Given the description of an element on the screen output the (x, y) to click on. 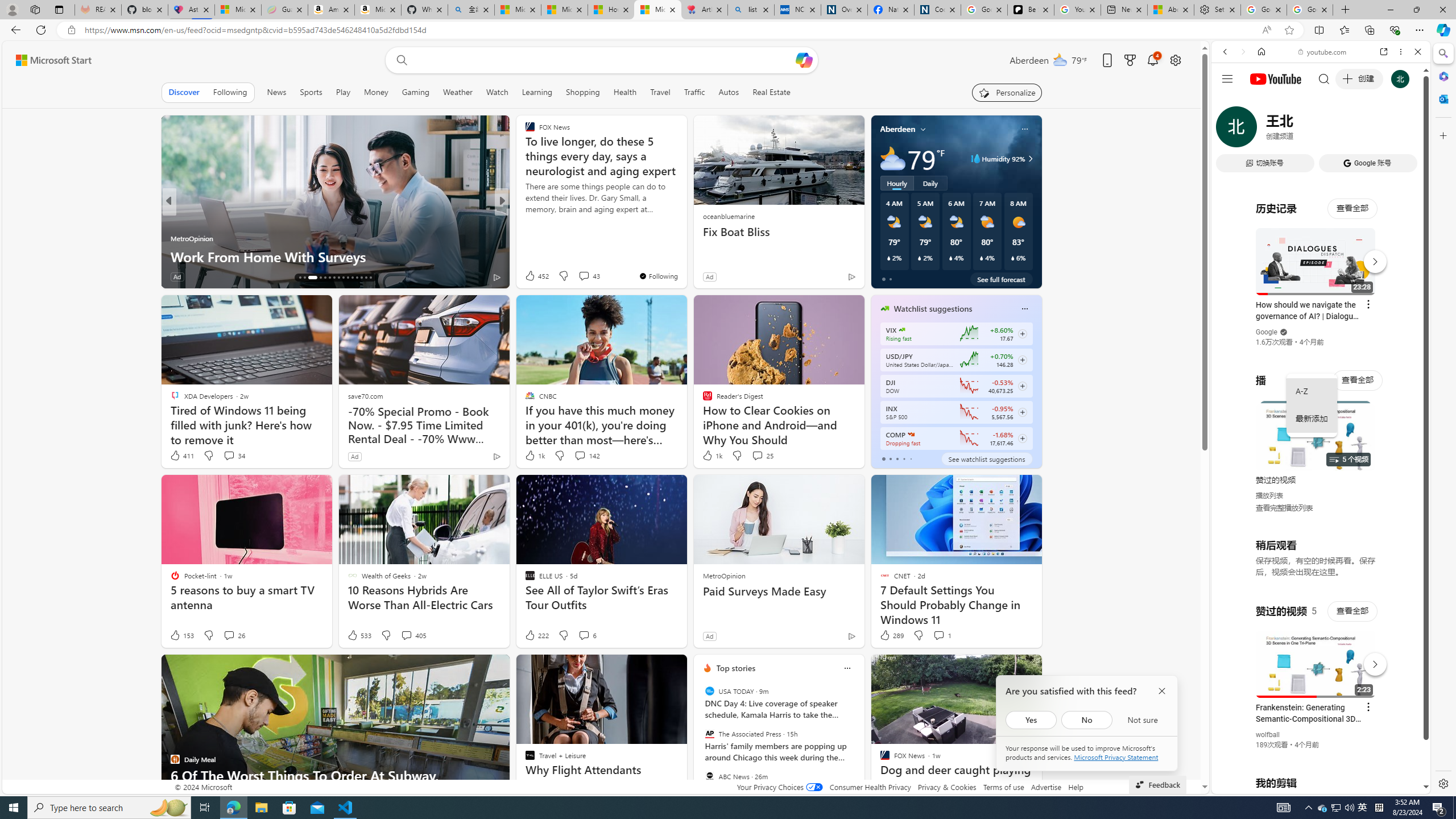
Google (1320, 281)
AutomationID: tab-16 (299, 277)
67 Like (530, 276)
View comments 25 Comment (761, 455)
Class: icon-img (847, 668)
Traffic (694, 92)
View comments 7 Comment (583, 276)
Open Copilot (803, 59)
